Given the description of an element on the screen output the (x, y) to click on. 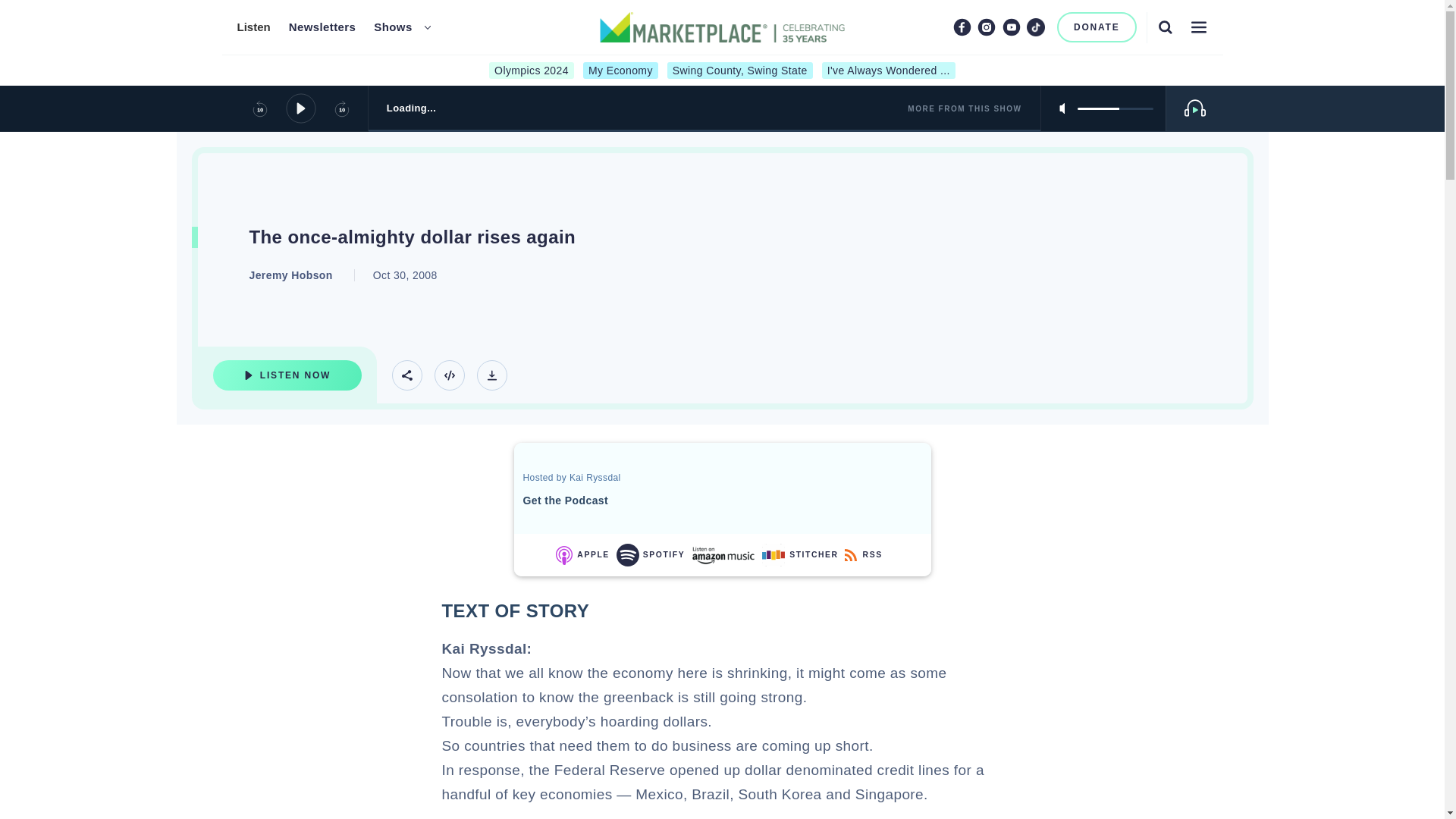
Listen Now (286, 374)
Menu (1198, 27)
DONATE (1097, 27)
TikTok (1035, 27)
Listen (252, 26)
Instagram (985, 27)
5 (1115, 108)
Shows (393, 26)
Newsletters (322, 27)
volume (1115, 108)
